Given the description of an element on the screen output the (x, y) to click on. 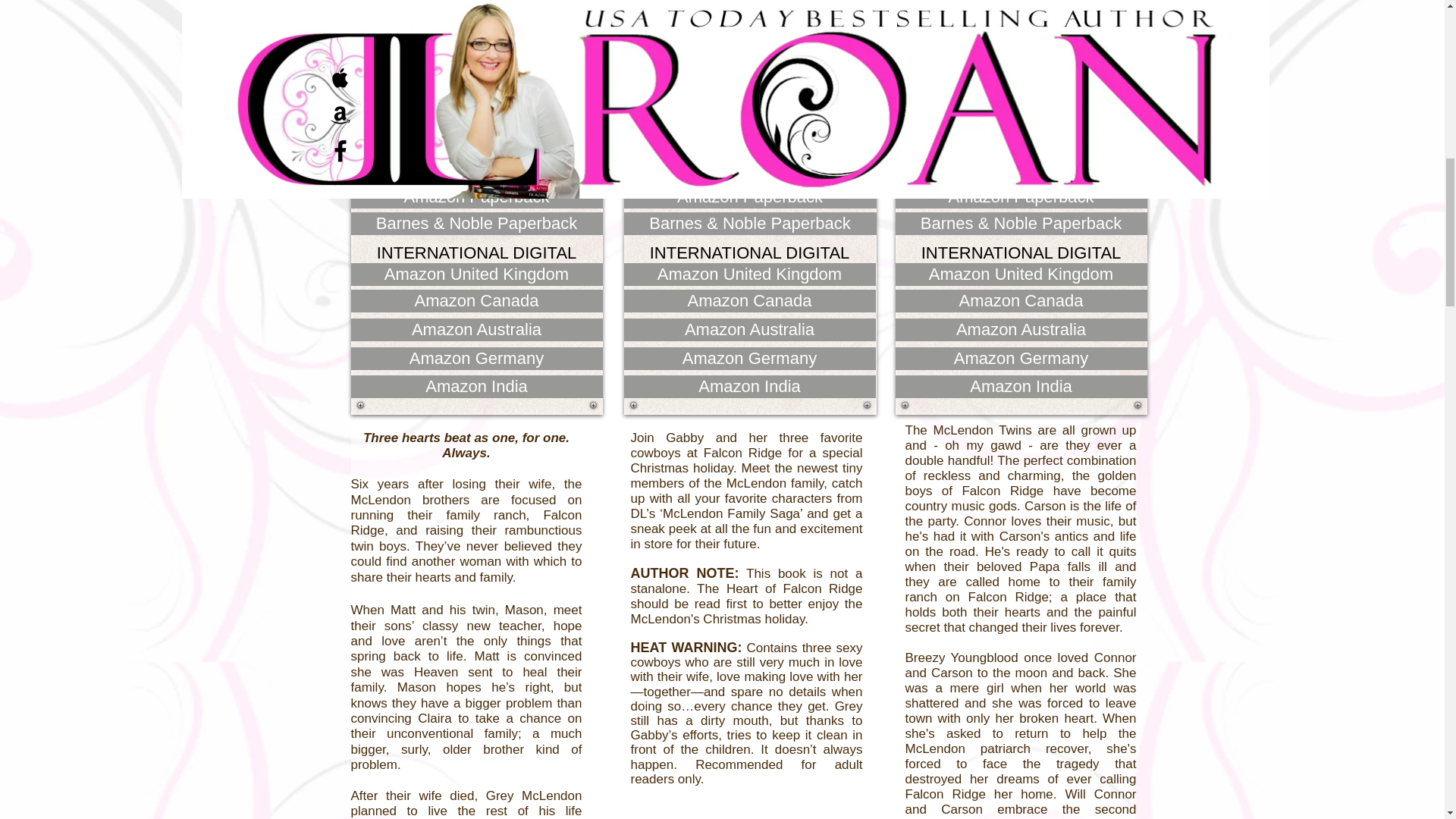
Apple Books (1021, 63)
Nook (476, 90)
Kindle (1021, 36)
Amazon Germany (476, 358)
Amazon Canada (476, 300)
Amazon India (476, 386)
Kobo (476, 118)
Amazon India (749, 386)
Amazon United Kingdom (476, 273)
Google Play (749, 146)
